Given the description of an element on the screen output the (x, y) to click on. 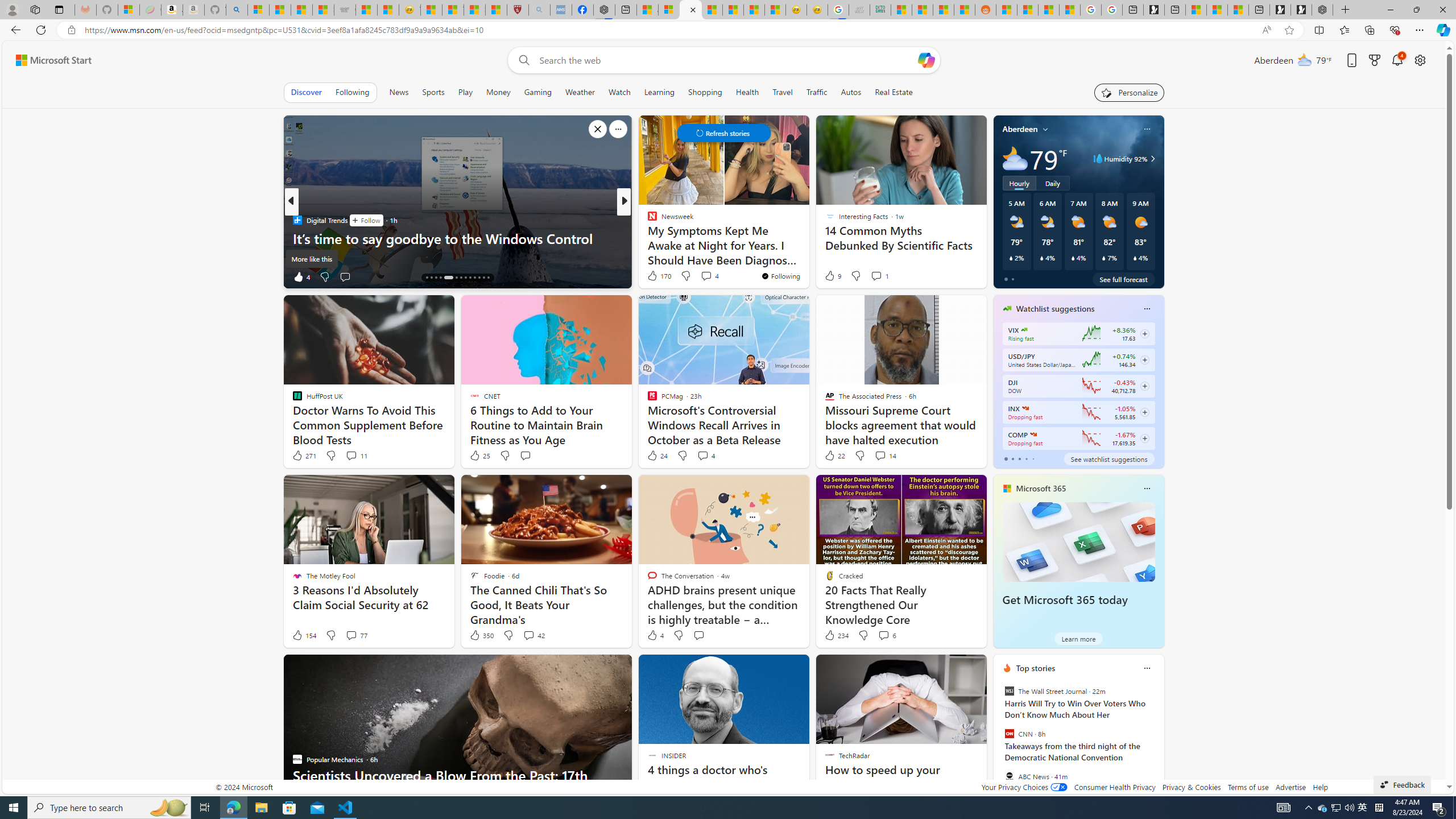
The Wall Street Journal (1008, 691)
View comments 34 Comment (703, 276)
234 Like (835, 634)
